Given the description of an element on the screen output the (x, y) to click on. 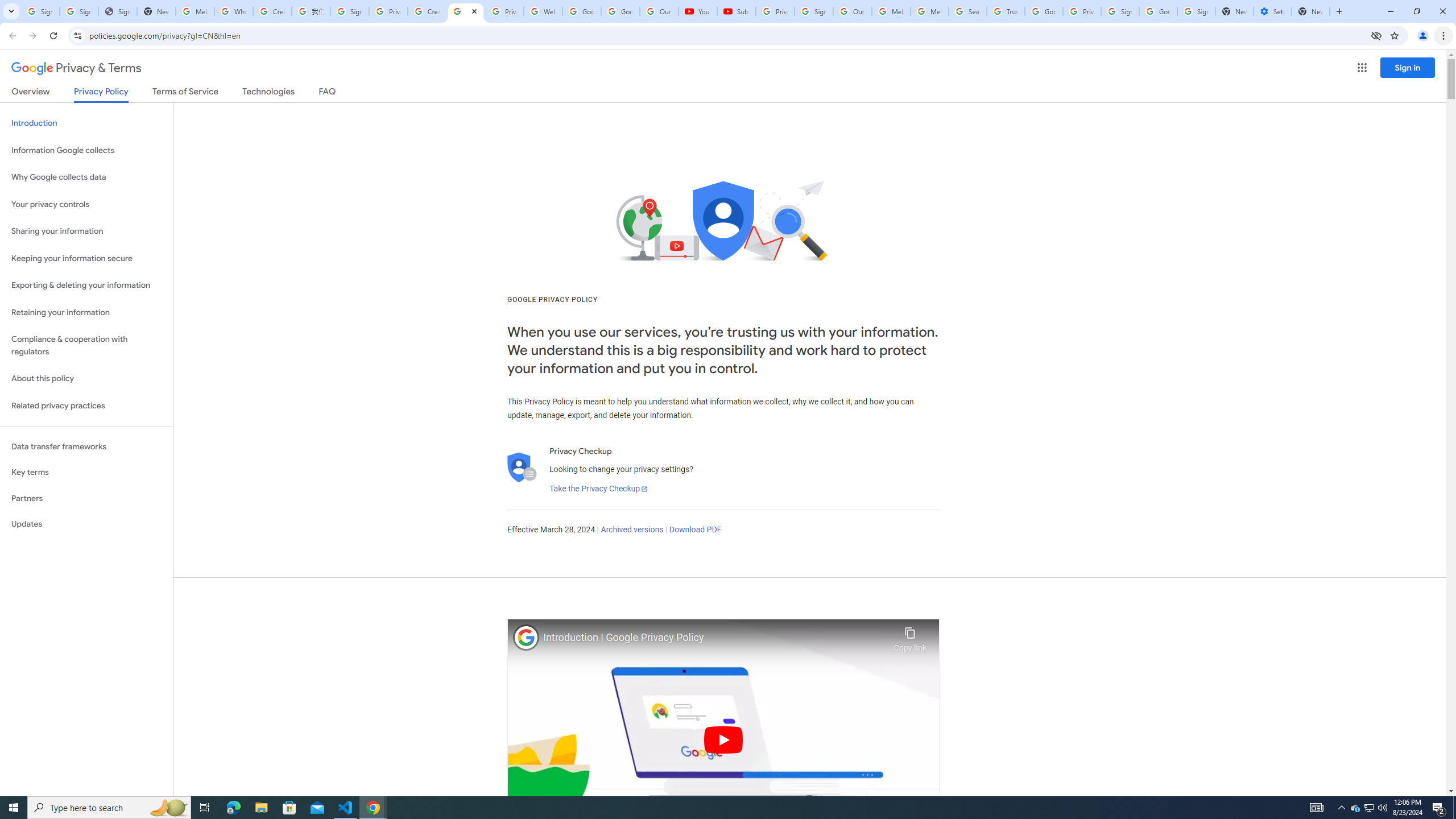
Sign in - Google Accounts (1196, 11)
Archived versions (631, 529)
Create your Google Account (272, 11)
Exporting & deleting your information (86, 284)
Partners (86, 497)
Key terms (86, 472)
Copy link (909, 636)
Download PDF (695, 529)
Subscriptions - YouTube (736, 11)
